Given the description of an element on the screen output the (x, y) to click on. 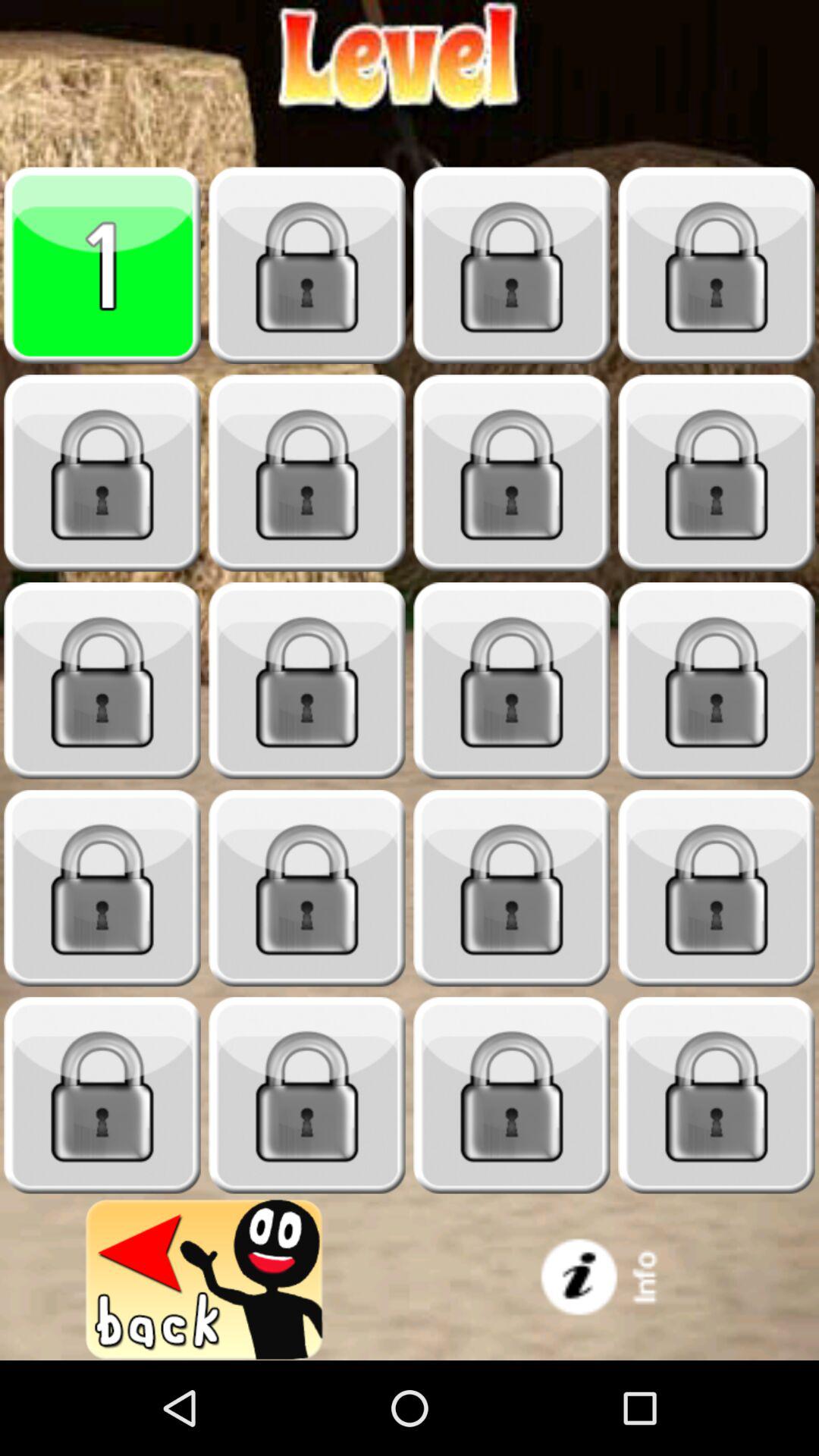
game of the next level (306, 265)
